Given the description of an element on the screen output the (x, y) to click on. 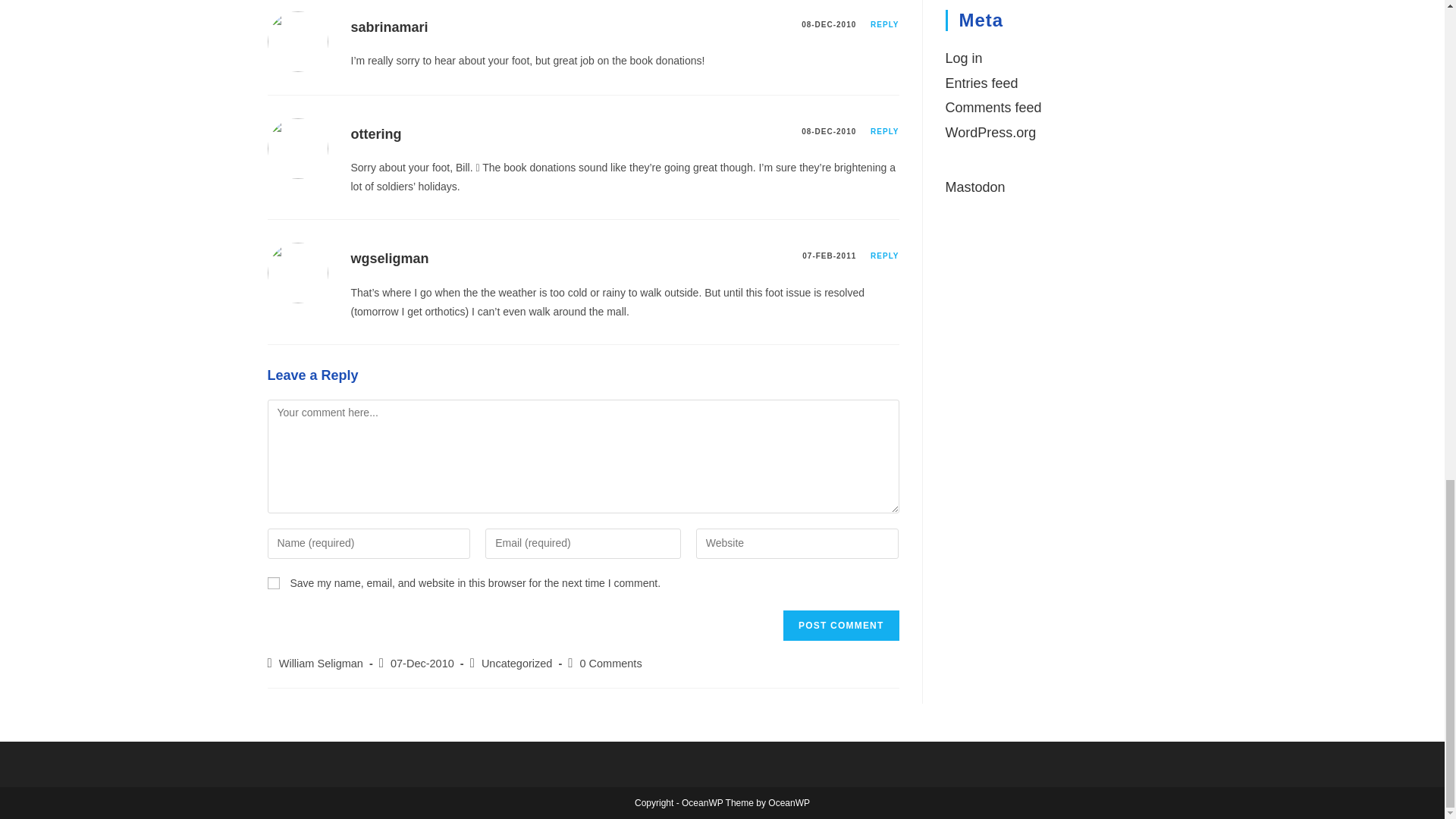
Post Comment (840, 625)
yes (272, 582)
Posts by William Seligman (320, 663)
